Given the description of an element on the screen output the (x, y) to click on. 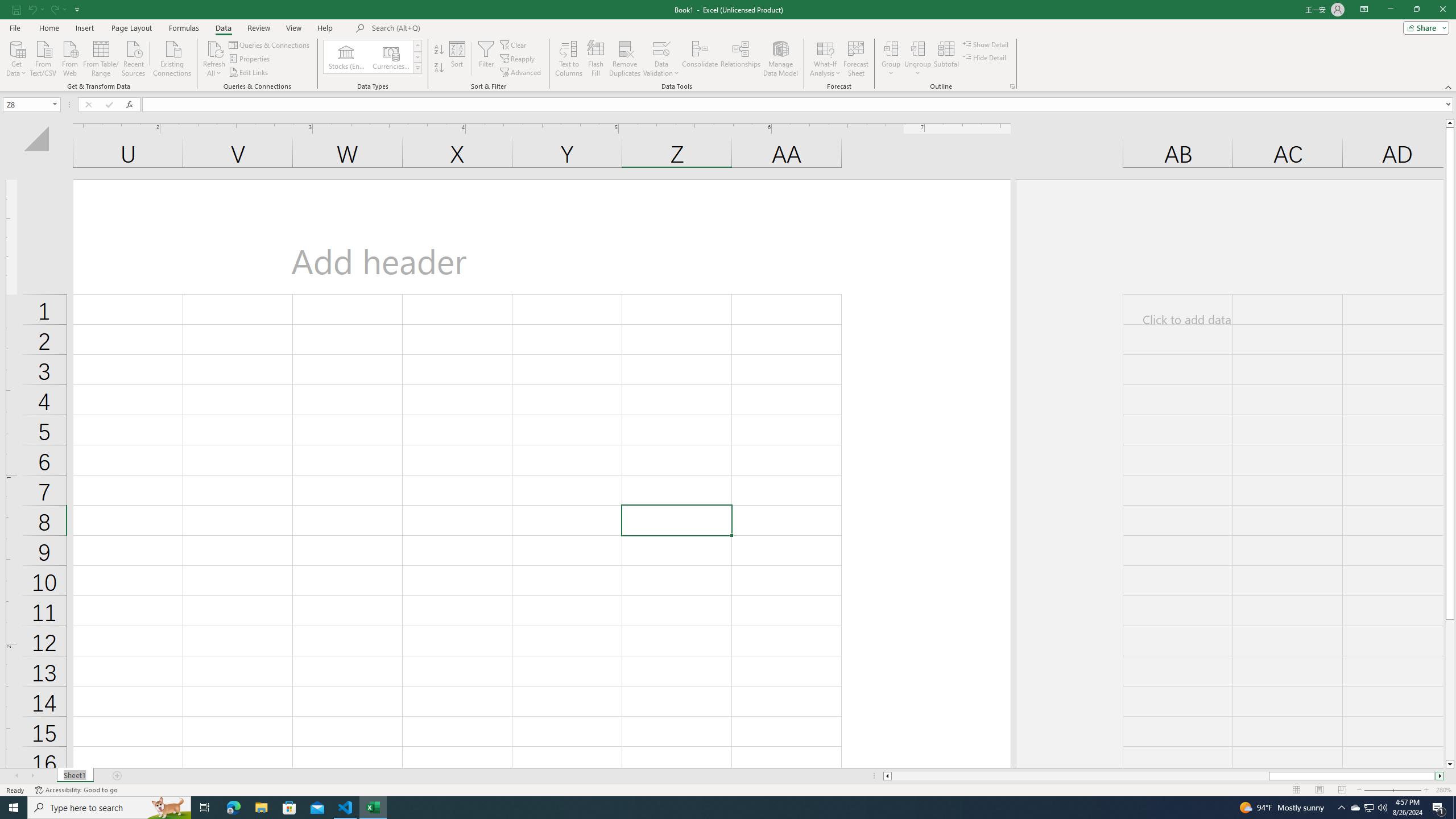
Subtotal (946, 58)
What-If Analysis (825, 58)
Data Validation... (661, 48)
From Web (69, 57)
Manage Data Model (780, 58)
Name Box (27, 104)
Existing Connections (171, 57)
Remove Duplicates (625, 58)
Sheet1 (74, 775)
Class: MsoCommandBar (728, 45)
Edit Links (249, 72)
Open (54, 104)
Insert (83, 28)
Share (1423, 27)
